Given the description of an element on the screen output the (x, y) to click on. 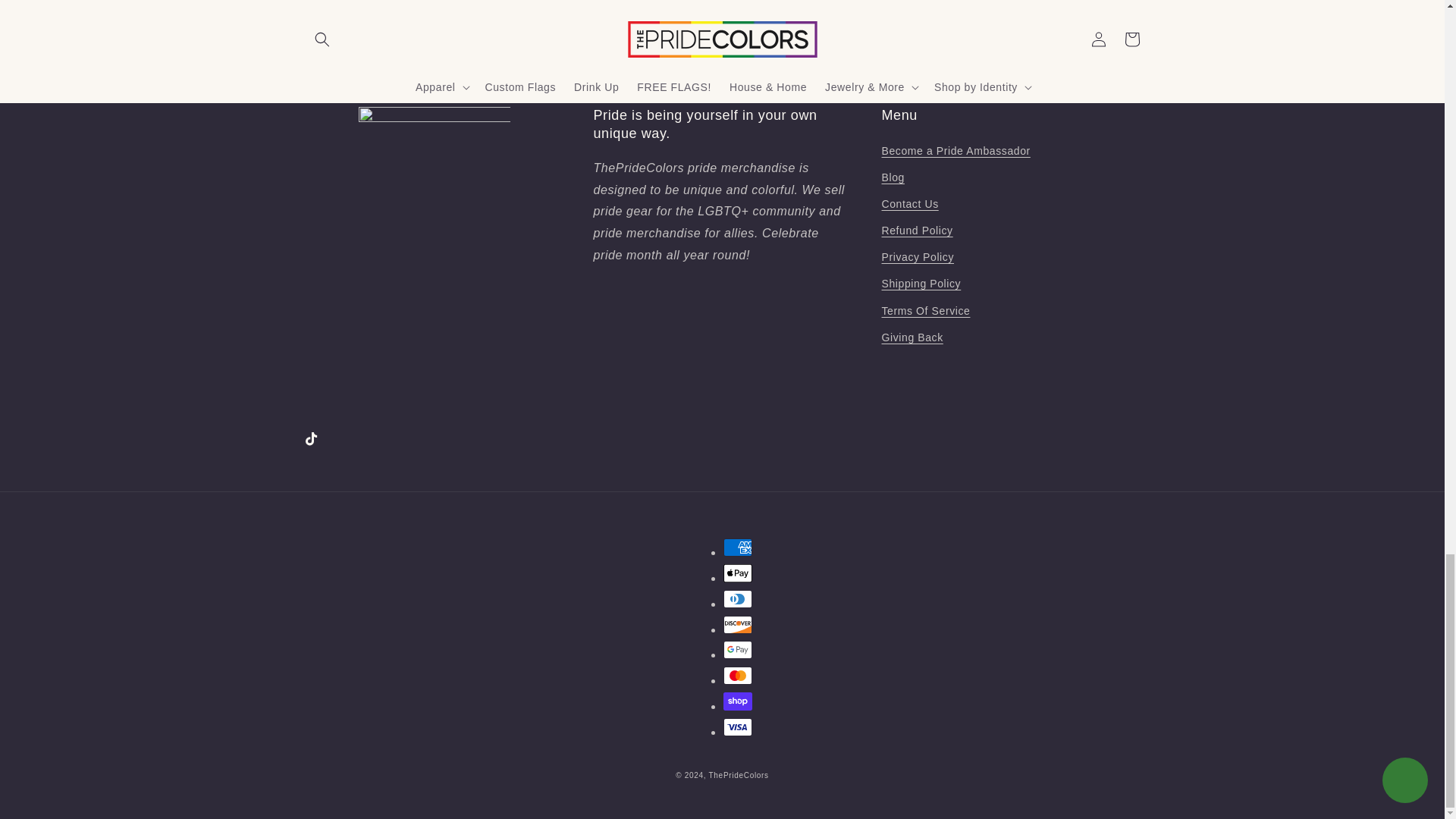
Google Pay (737, 649)
Apple Pay (737, 573)
Discover (737, 624)
Mastercard (737, 675)
Diners Club (737, 598)
American Express (737, 547)
Shop Pay (737, 701)
